Given the description of an element on the screen output the (x, y) to click on. 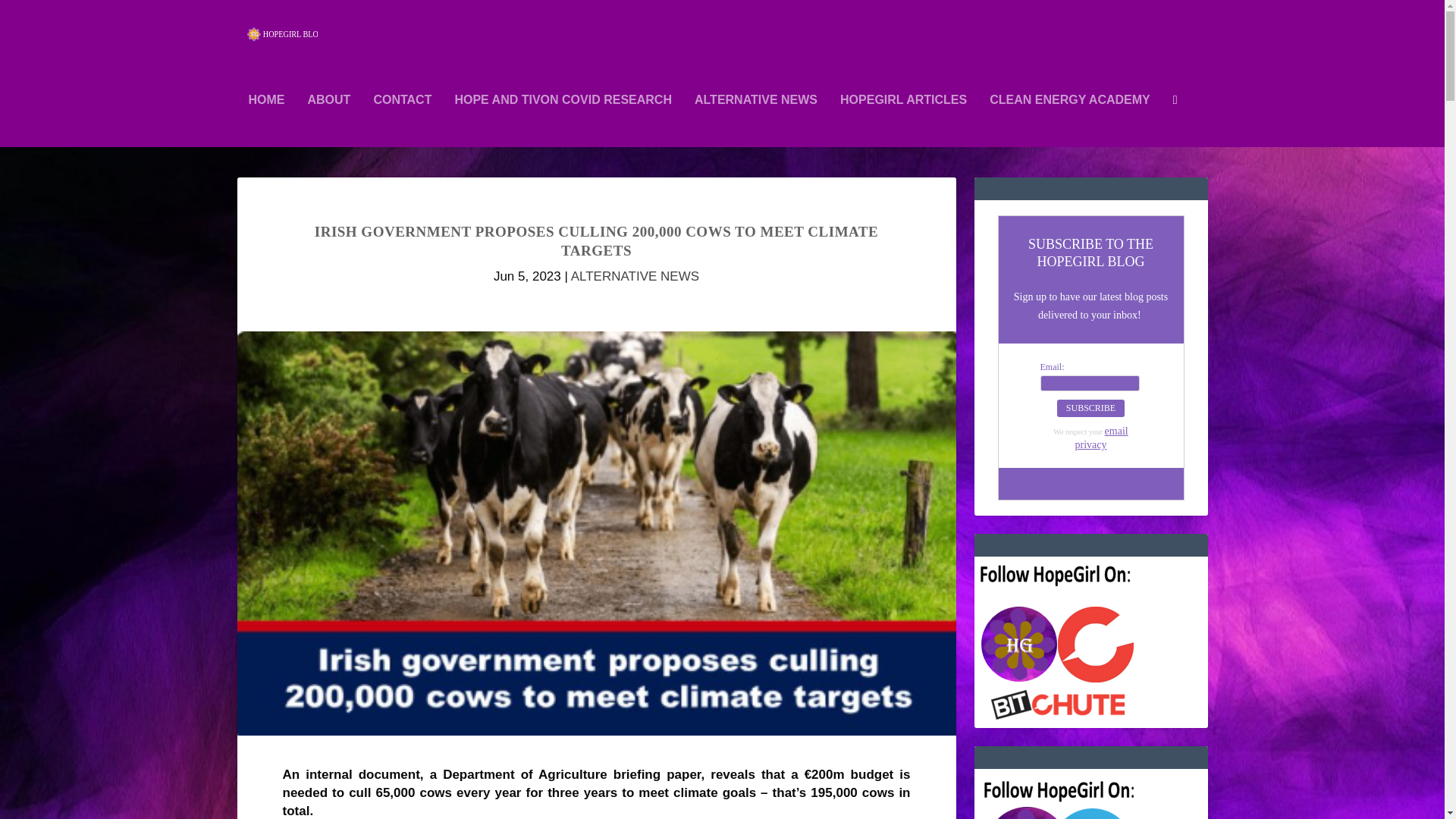
SUBSCRIBE (1090, 407)
HOPEGIRL ARTICLES (903, 120)
ALTERNATIVE NEWS (634, 276)
Privacy Policy (1101, 437)
HOPE AND TIVON COVID RESEARCH (562, 120)
ALTERNATIVE NEWS (755, 120)
CONTACT (401, 120)
CLEAN ENERGY ACADEMY (1070, 120)
